Given the description of an element on the screen output the (x, y) to click on. 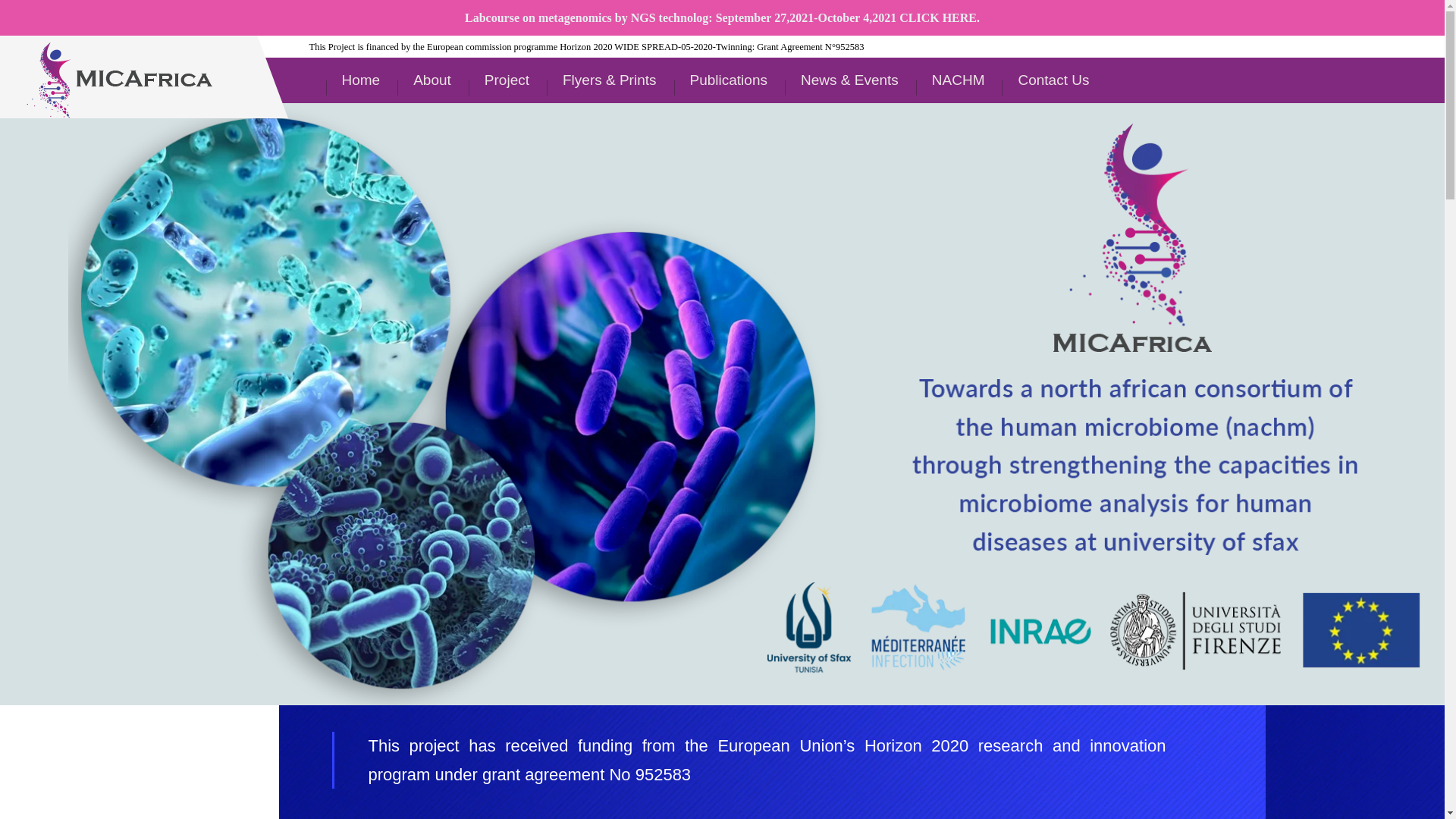
Home (361, 80)
NACHM (958, 80)
About (432, 80)
Contact Us (1053, 80)
Project (506, 80)
Publications (728, 80)
